Given the description of an element on the screen output the (x, y) to click on. 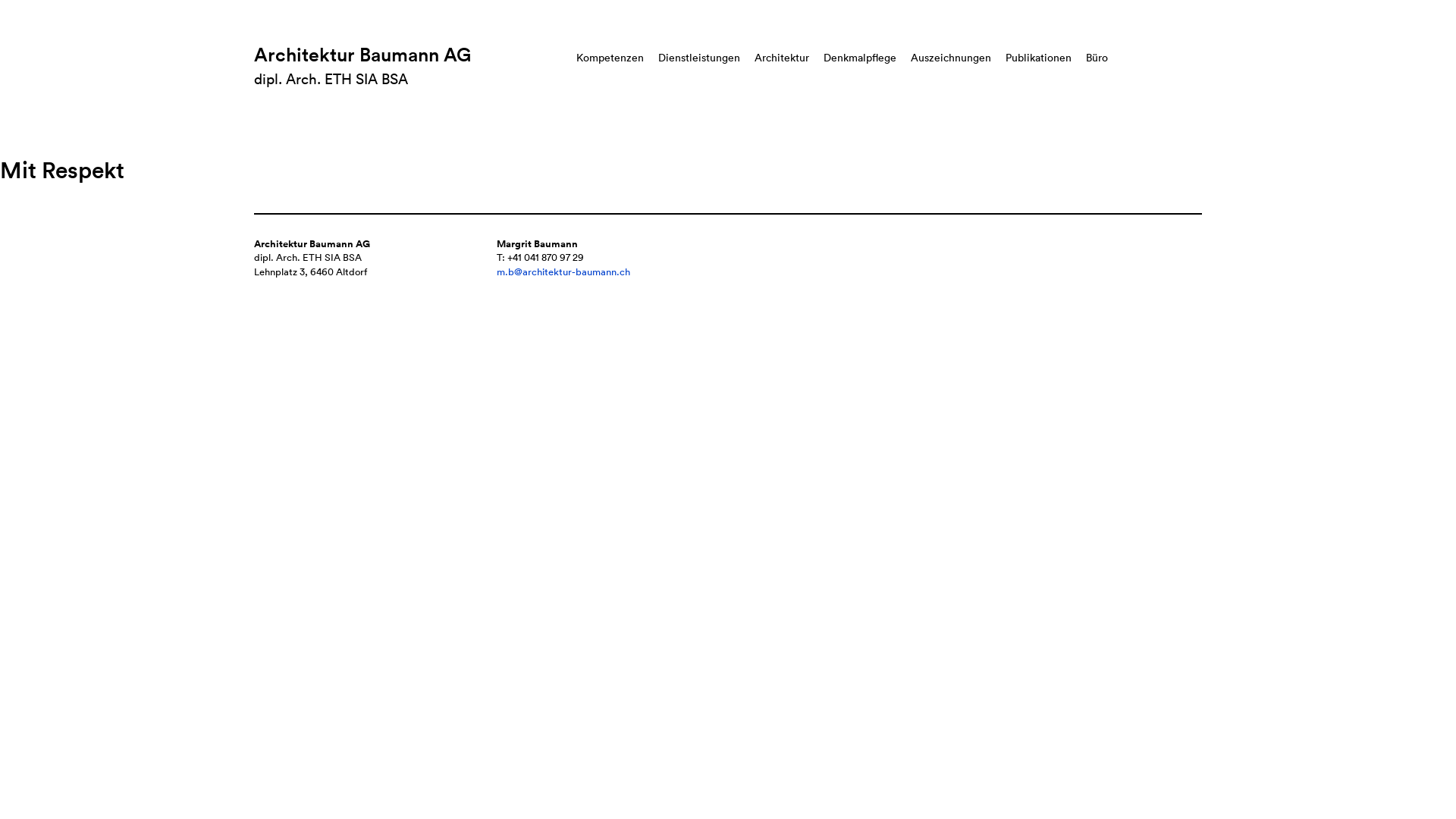
Architektur Baumann AG Element type: text (362, 54)
Dienstleistungen Element type: text (699, 57)
dipl. Arch. ETH SIA BSA Element type: text (330, 78)
m.b@architektur-baumann.ch Element type: text (563, 271)
Kompetenzen Element type: text (609, 57)
Auszeichnungen Element type: text (950, 57)
Publikationen Element type: text (1038, 57)
Architektur Element type: text (781, 57)
Denkmalpflege Element type: text (859, 57)
